Given the description of an element on the screen output the (x, y) to click on. 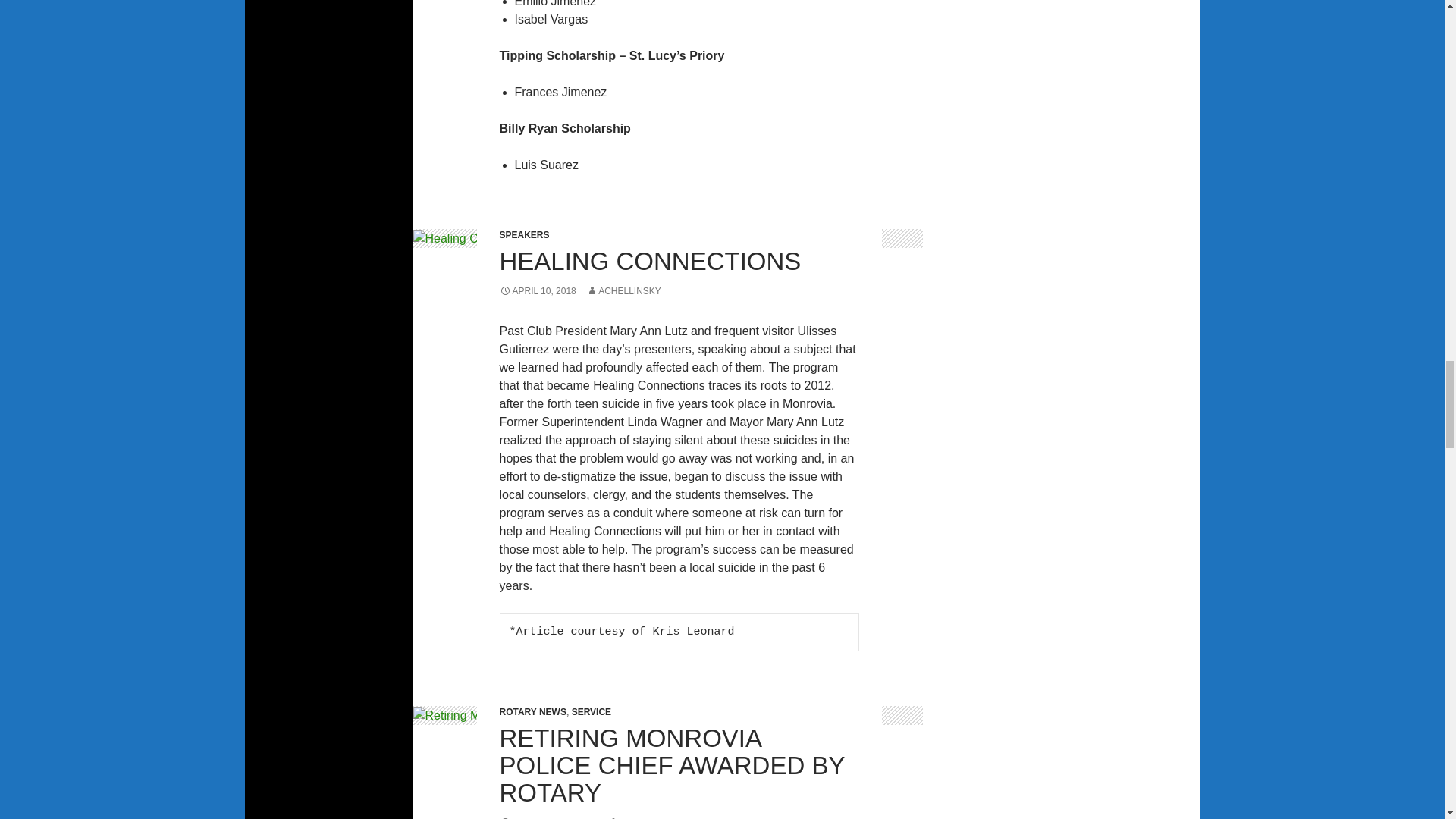
ACHELLINSKY (623, 290)
ROTARY NEWS (532, 711)
SPEAKERS (523, 235)
Page 2 (679, 486)
APRIL 10, 2018 (537, 290)
HEALING CONNECTIONS (649, 261)
